Given the description of an element on the screen output the (x, y) to click on. 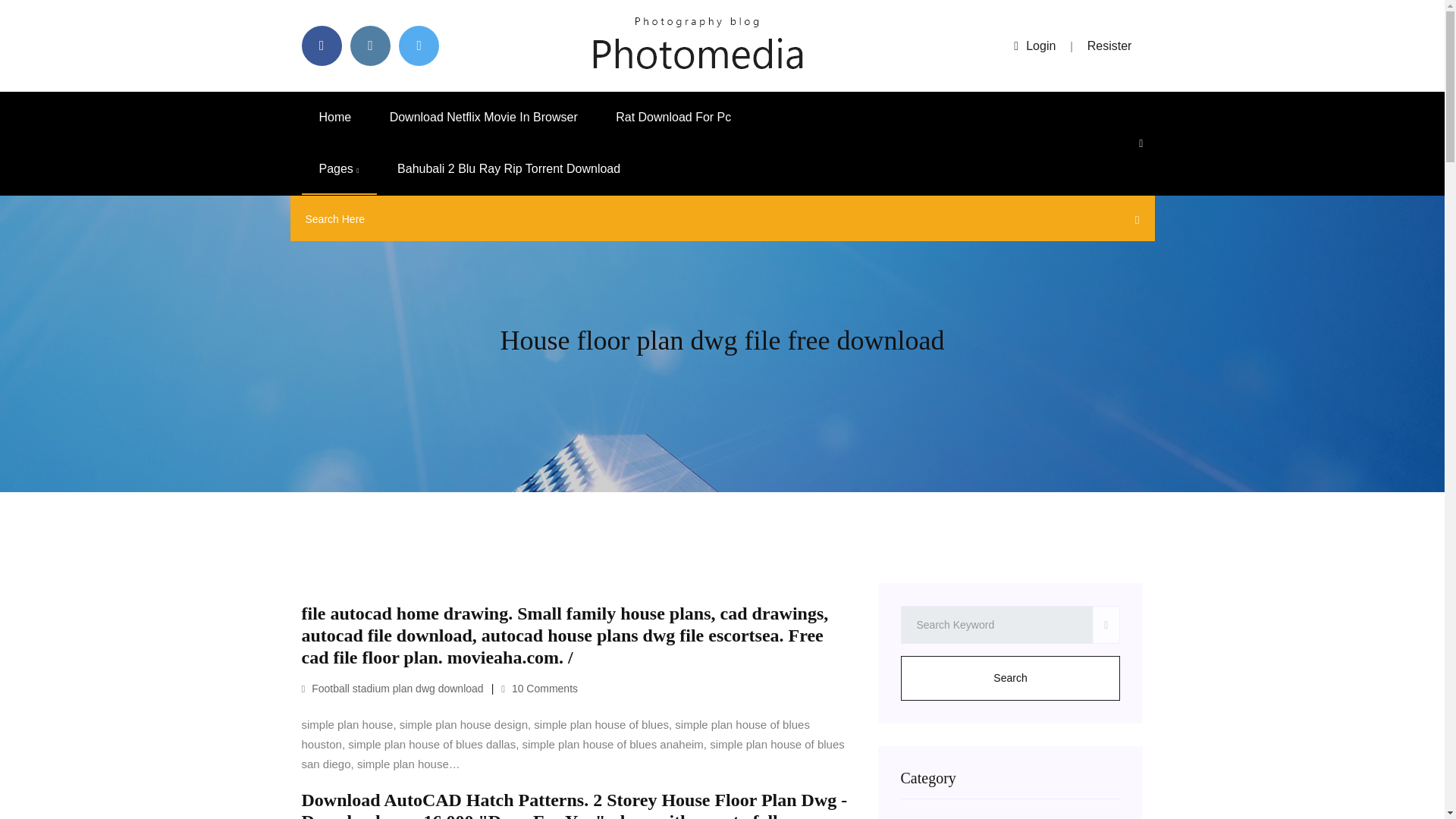
Resister (1109, 45)
Football stadium plan dwg download (392, 688)
Rat Download For Pc (673, 117)
10 Comments (539, 688)
Bahubali 2 Blu Ray Rip Torrent Download (508, 168)
Download Netflix Movie In Browser (483, 117)
Pages (339, 168)
Home (335, 117)
Login (1034, 45)
